Given the description of an element on the screen output the (x, y) to click on. 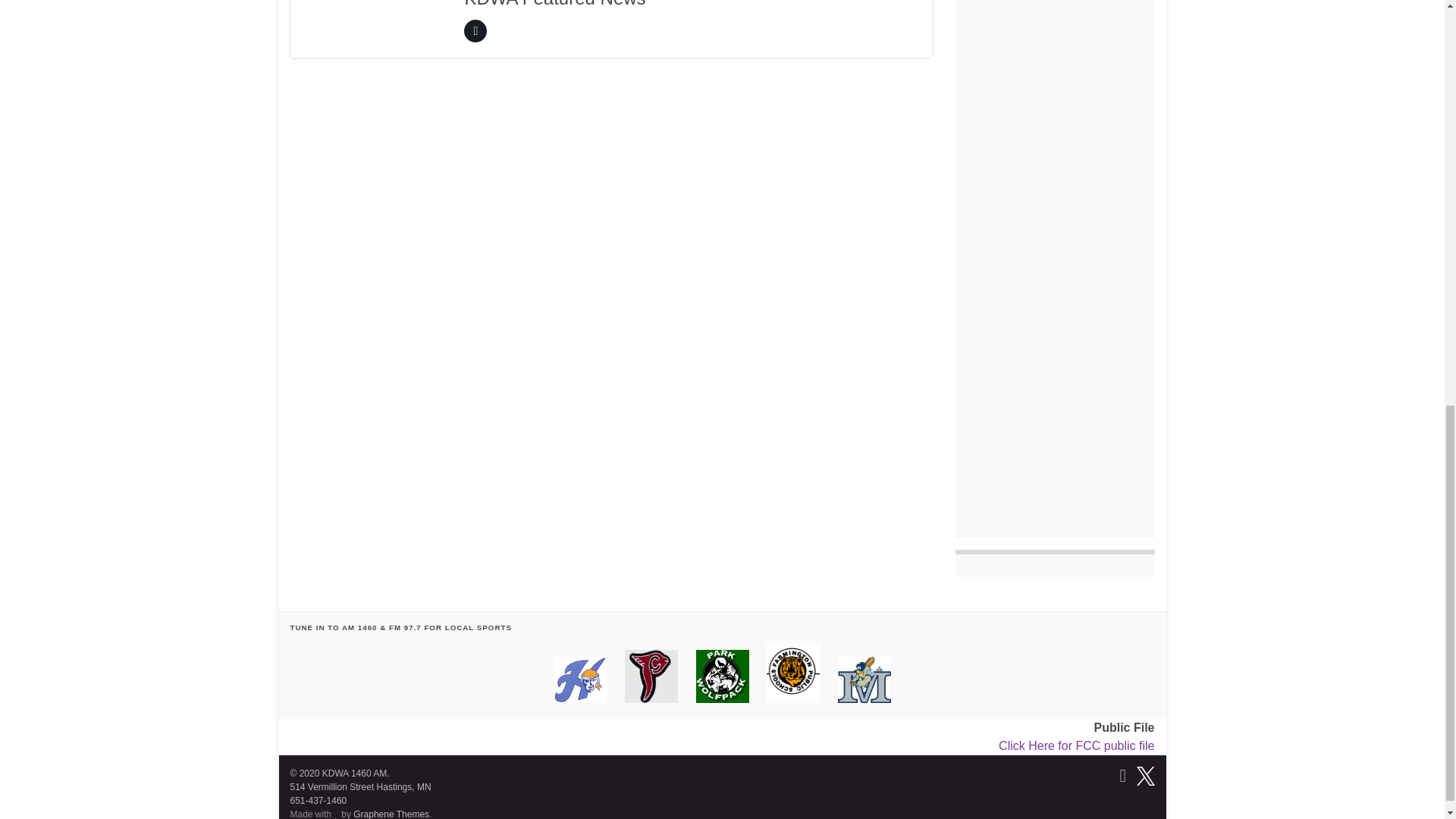
Visit KDWA on Twitter (1144, 774)
